Given the description of an element on the screen output the (x, y) to click on. 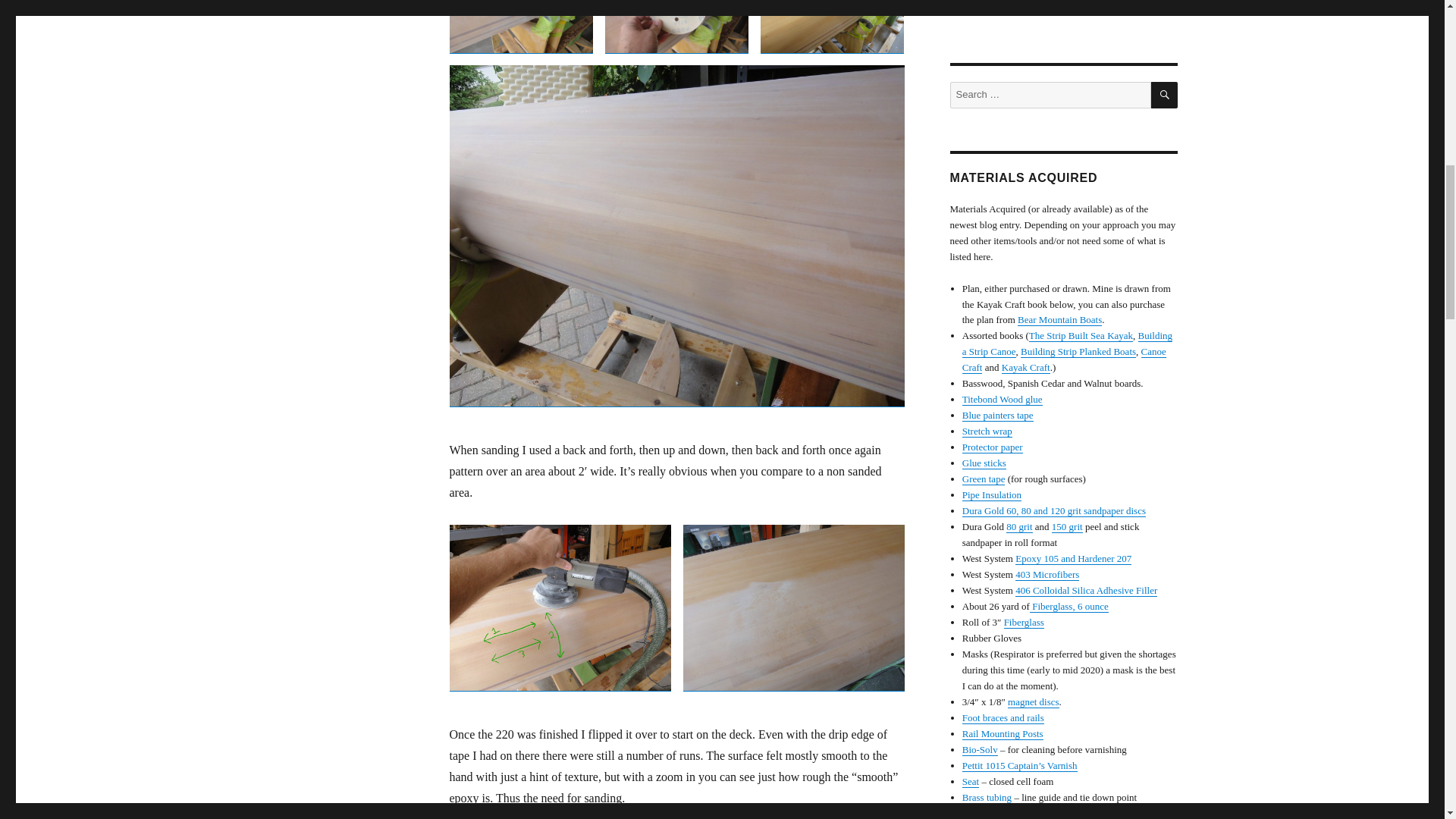
Pipe Insulation (992, 494)
Building a Strip Canoe (1067, 343)
Glue sticks (984, 462)
Canoe Craft (1064, 359)
Protector paper (992, 446)
Kayak Craft (1025, 367)
Bear Mountain Boats (1059, 319)
Blue painters tape (997, 414)
Green tape (984, 478)
Titebond Wood glue (1002, 398)
The Strip Built Sea Kayak (1080, 335)
SEARCH (1164, 94)
Building Strip Planked Boats (1077, 351)
Stretch wrap (986, 430)
Dura Gold 60, 80 and 120 grit sandpaper discs (1053, 510)
